Given the description of an element on the screen output the (x, y) to click on. 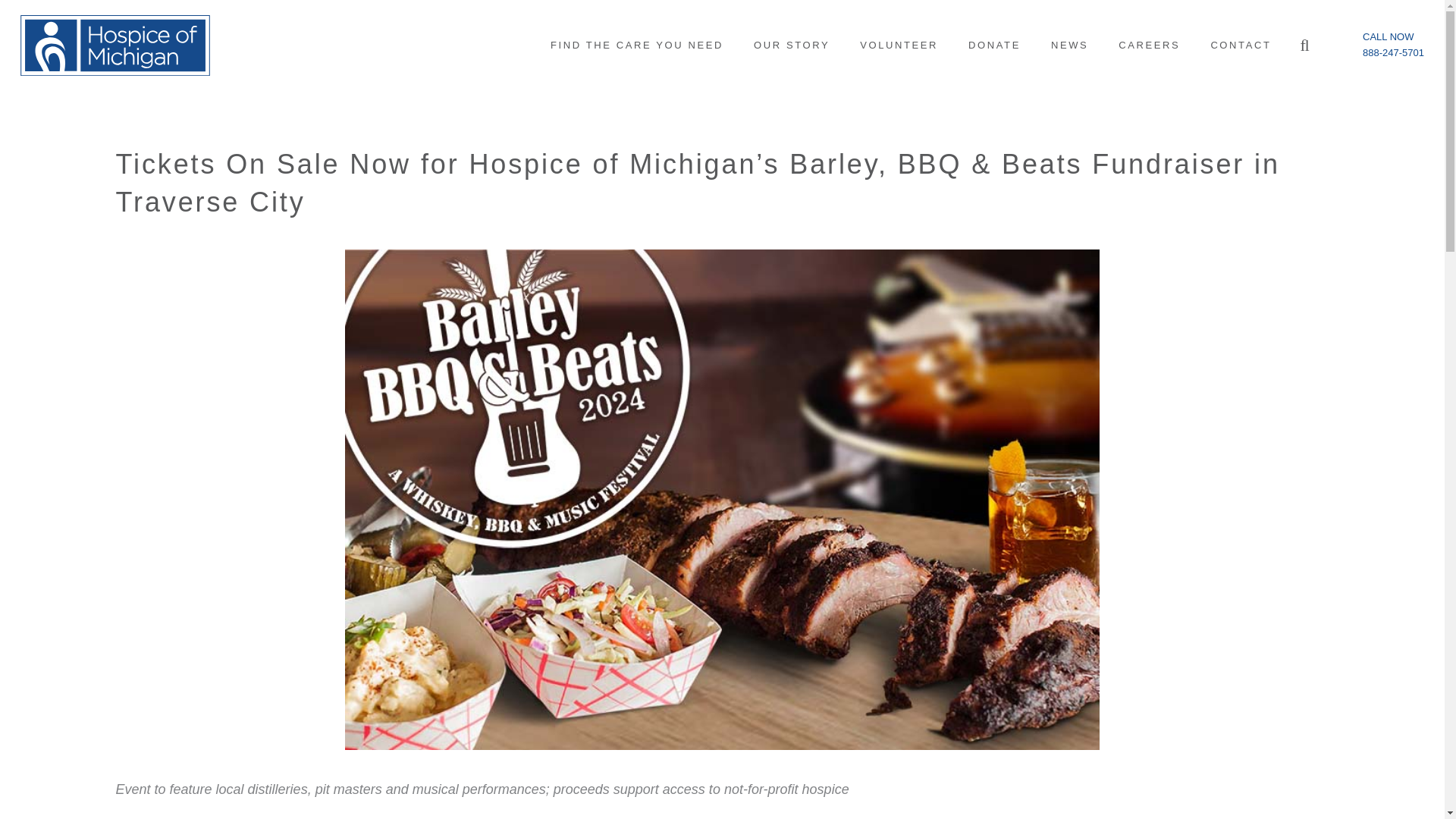
FIND THE CARE YOU NEED (636, 45)
VOLUNTEER (898, 45)
OUR STORY (791, 45)
DONATE (994, 45)
